Given the description of an element on the screen output the (x, y) to click on. 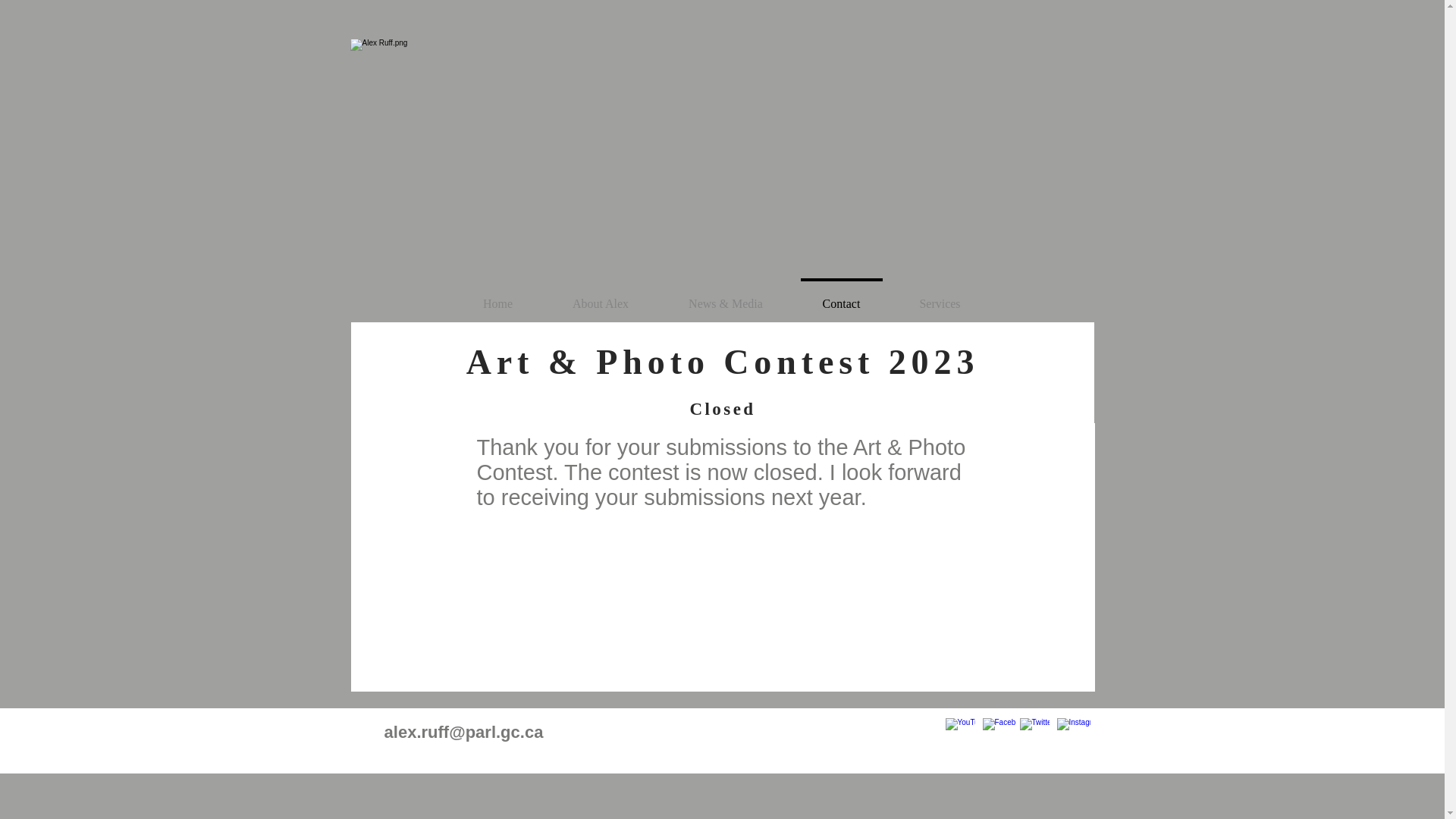
Home Element type: text (497, 297)
About Alex Element type: text (600, 297)
Services Element type: text (940, 297)
alex.ruff@parl.gc.ca Element type: text (463, 731)
News & Media Element type: text (725, 297)
Contact Element type: text (841, 297)
